Given the description of an element on the screen output the (x, y) to click on. 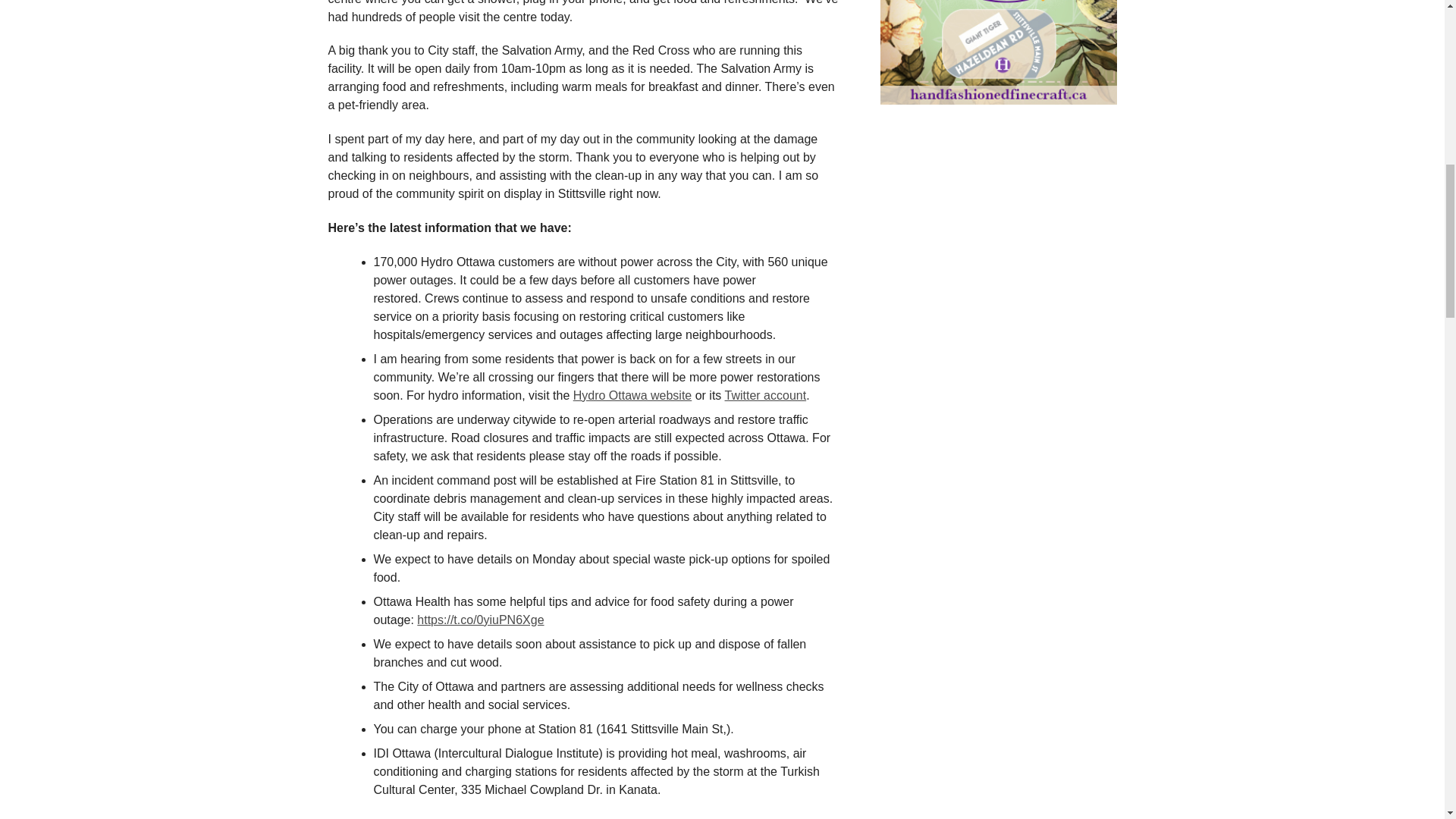
Hydro Ottawa website (633, 395)
Twitter account (765, 395)
